Given the description of an element on the screen output the (x, y) to click on. 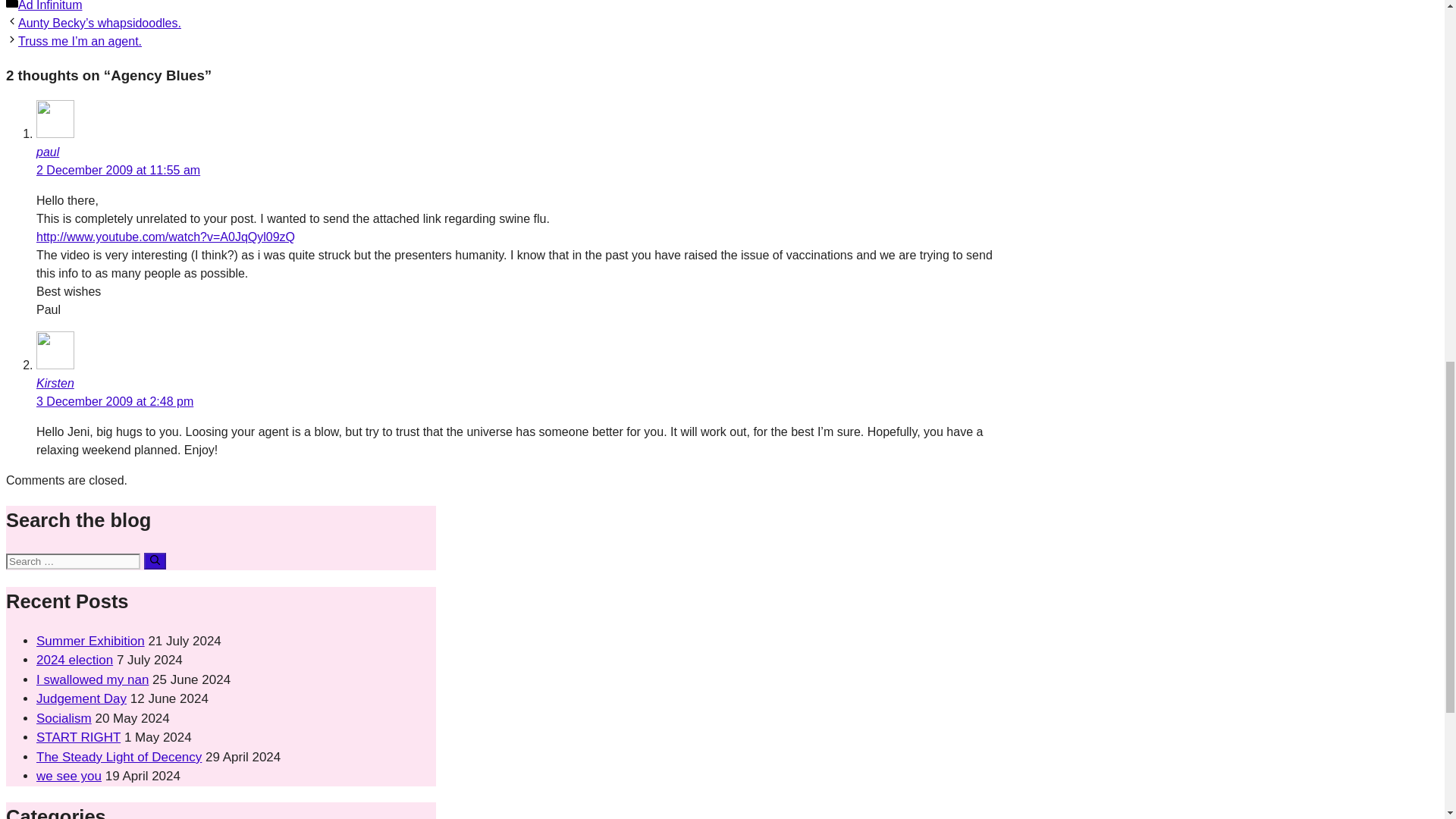
Search for: (72, 561)
paul (47, 151)
2024 election (74, 659)
I swallowed my nan (92, 679)
The Steady Light of Decency (119, 757)
Ad Infinitum (49, 5)
3 December 2009 at 2:48 pm (114, 400)
START RIGHT (78, 737)
Kirsten (55, 382)
2 December 2009 at 11:55 am (118, 169)
Socialism (63, 718)
Judgement Day (81, 698)
we see you (68, 775)
Summer Exhibition (90, 640)
